Given the description of an element on the screen output the (x, y) to click on. 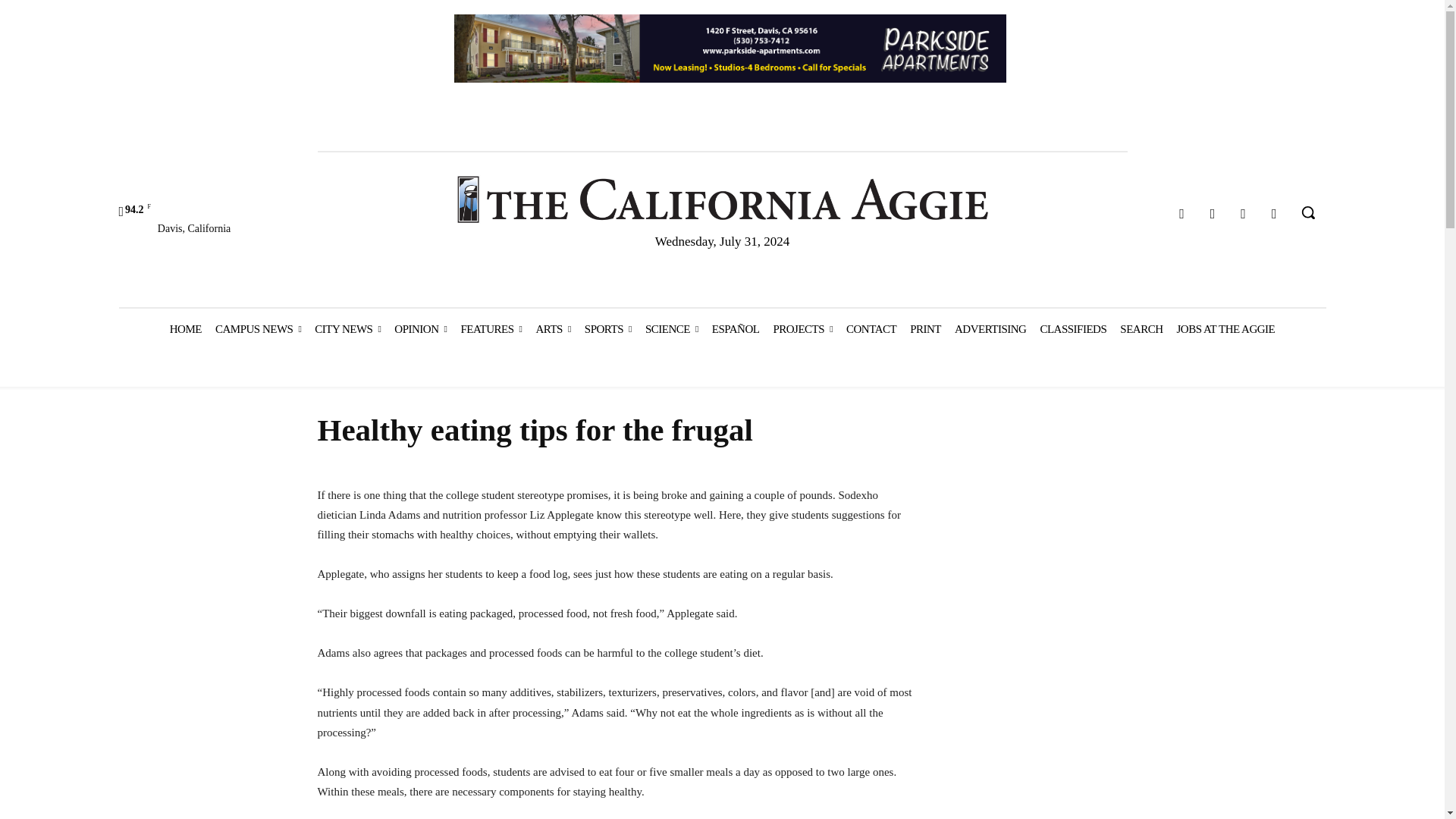
HOME (185, 329)
Youtube (1273, 214)
CAMPUS NEWS (257, 329)
Instagram (1212, 214)
Twitter (1243, 214)
Facebook (1181, 214)
